Given the description of an element on the screen output the (x, y) to click on. 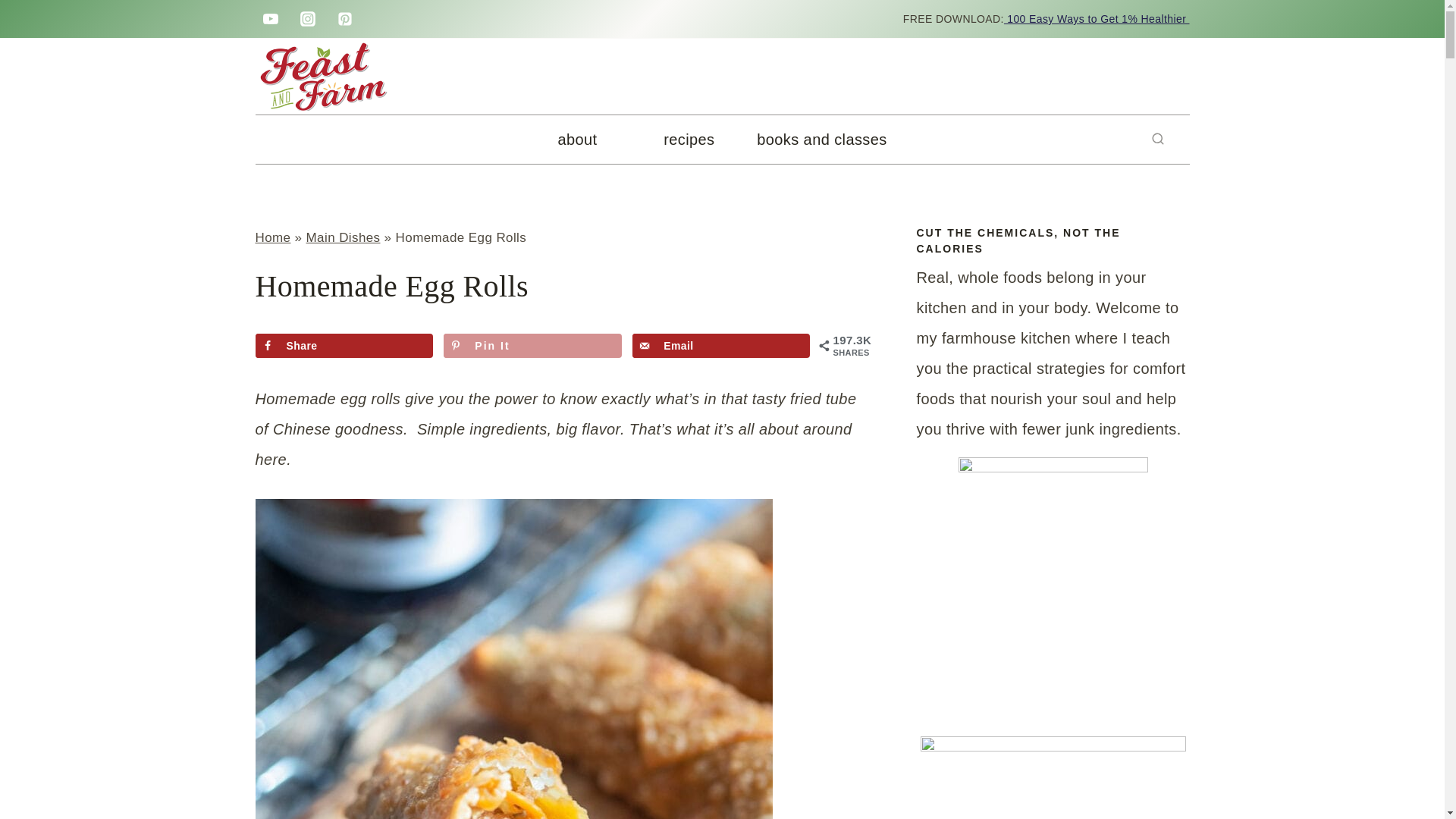
Home (271, 237)
Save to Pinterest (532, 345)
Email (720, 345)
books and classes (821, 139)
recipes (688, 139)
about (576, 139)
Pin It (532, 345)
Share (343, 345)
Main Dishes (342, 237)
Send over email (720, 345)
